Given the description of an element on the screen output the (x, y) to click on. 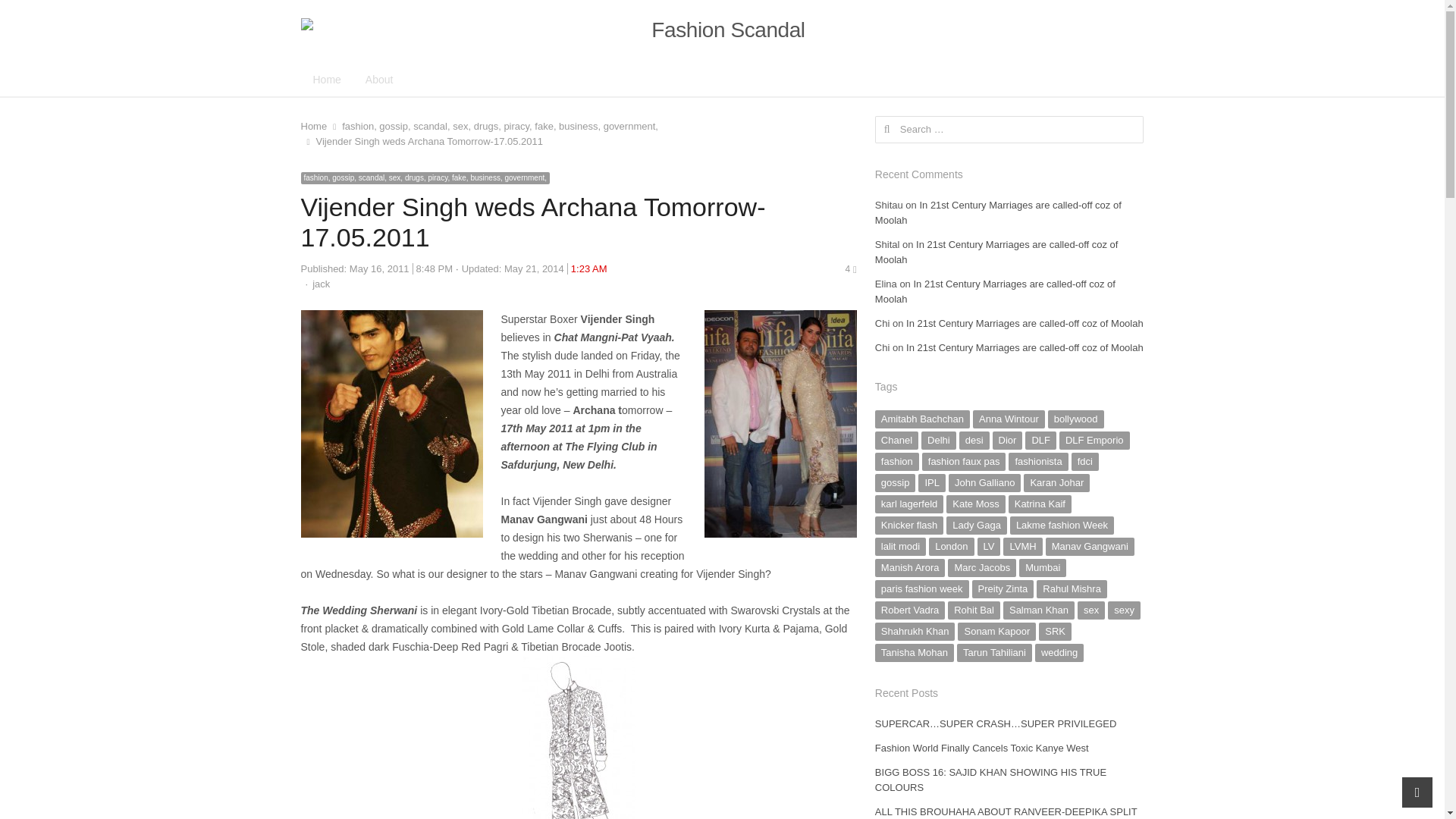
Home (312, 125)
About (379, 79)
4 (850, 268)
Home (325, 79)
Comment on Vijender Singh weds Archana Tomorrow-17.05.2011 (850, 268)
jack (321, 283)
Fashion Scandal (720, 30)
scroll to top (1417, 792)
